Given the description of an element on the screen output the (x, y) to click on. 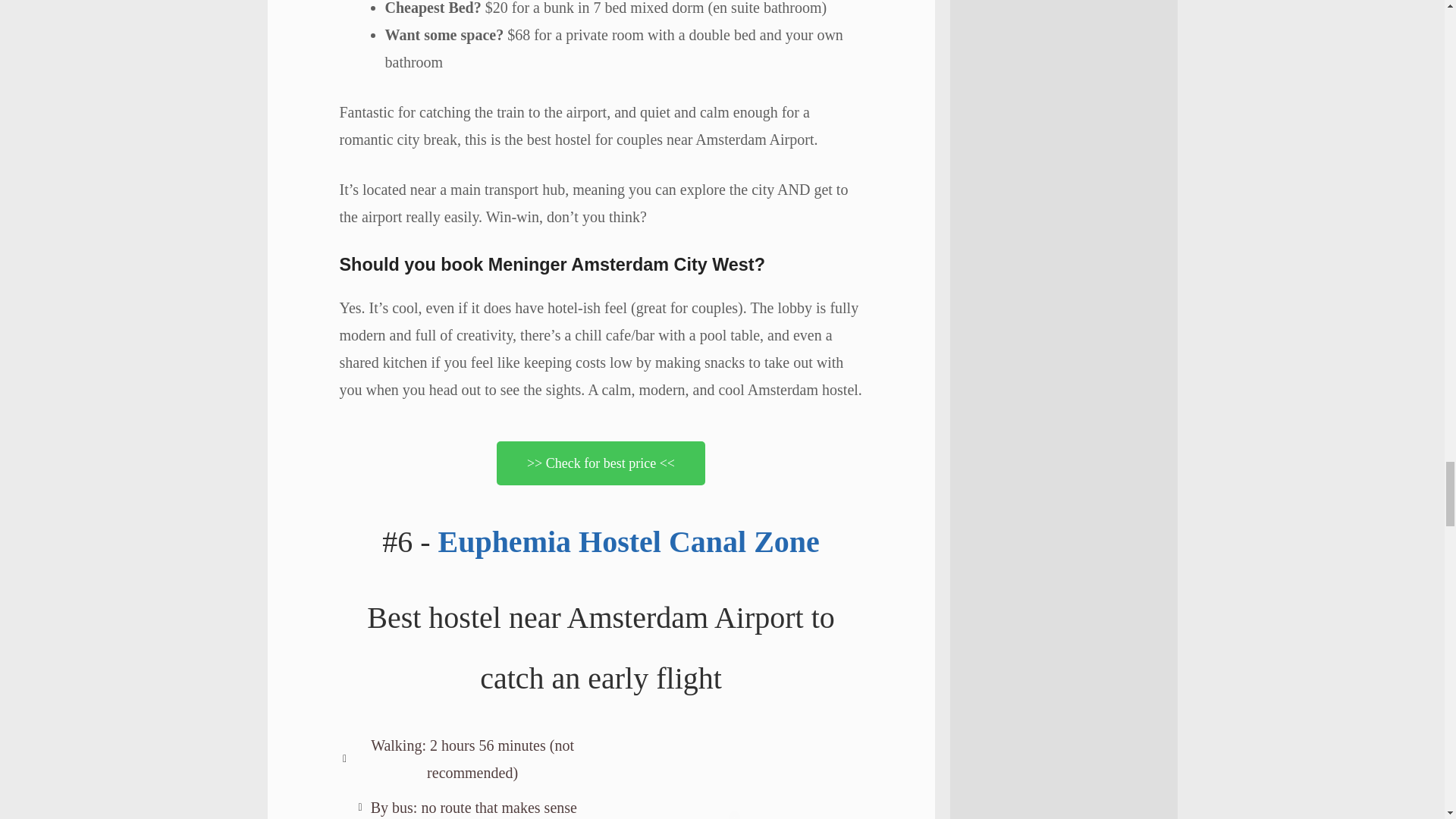
Euphemia Hostel Canal Zone (628, 541)
